Given the description of an element on the screen output the (x, y) to click on. 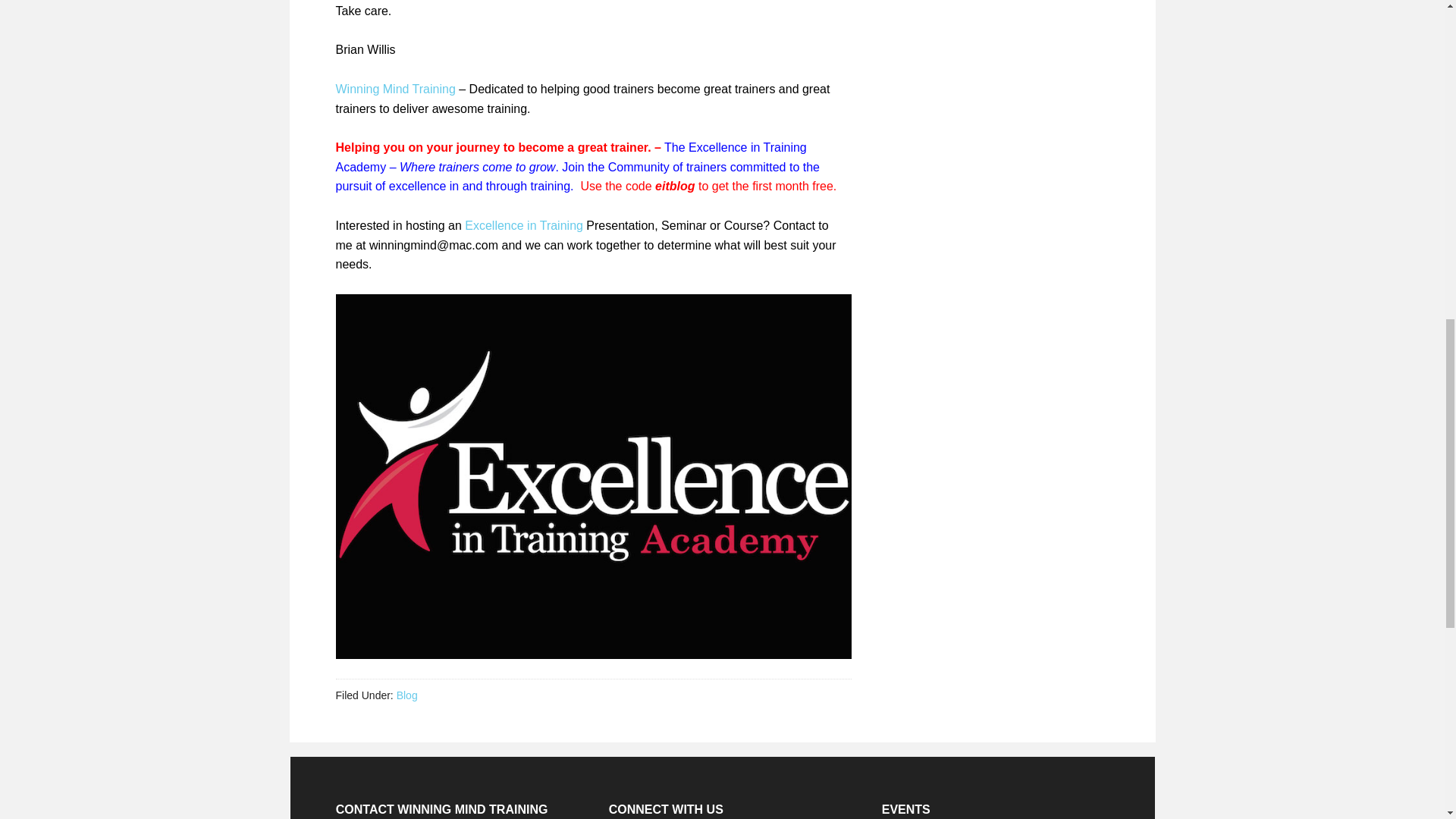
Join the Community (615, 166)
Winning Mind Training (394, 88)
Excellence in Training (523, 225)
Blog (406, 695)
The Excellence in Training Academy (570, 156)
